Given the description of an element on the screen output the (x, y) to click on. 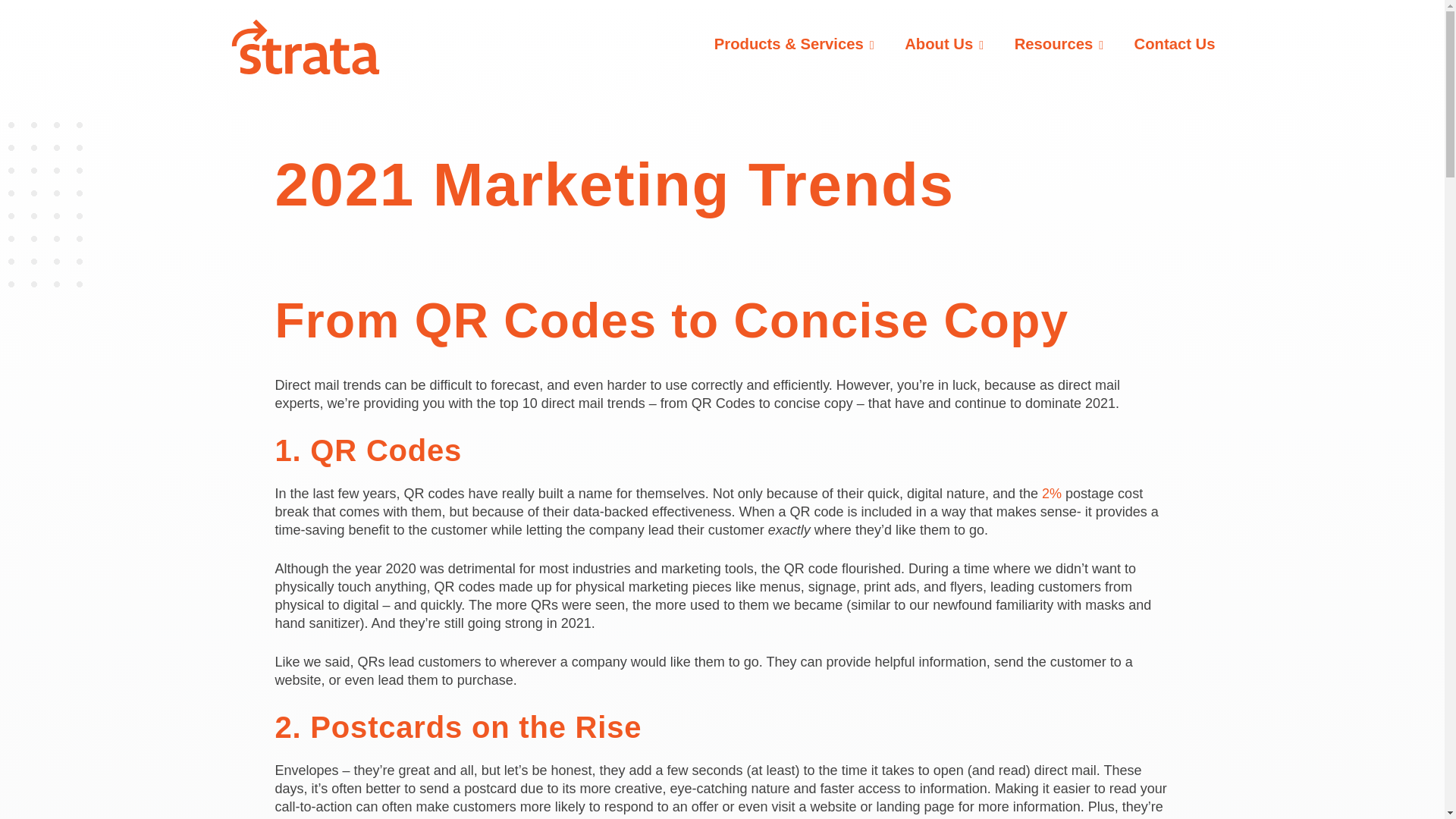
About Us (944, 44)
Resources (1058, 44)
Contact Us (1174, 44)
